Given the description of an element on the screen output the (x, y) to click on. 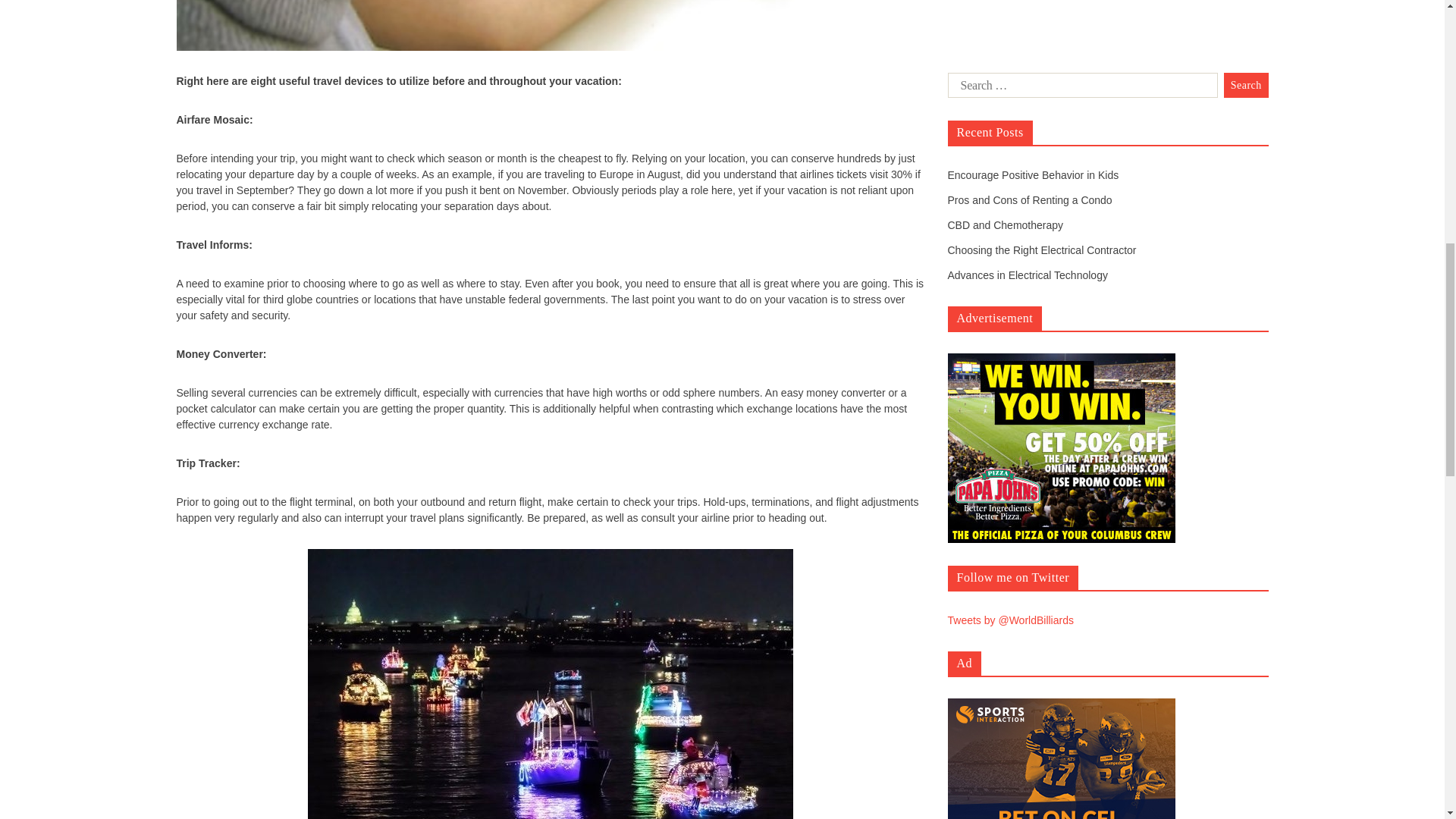
Organized Sports (988, 286)
Exercise (967, 245)
General (966, 265)
